Given the description of an element on the screen output the (x, y) to click on. 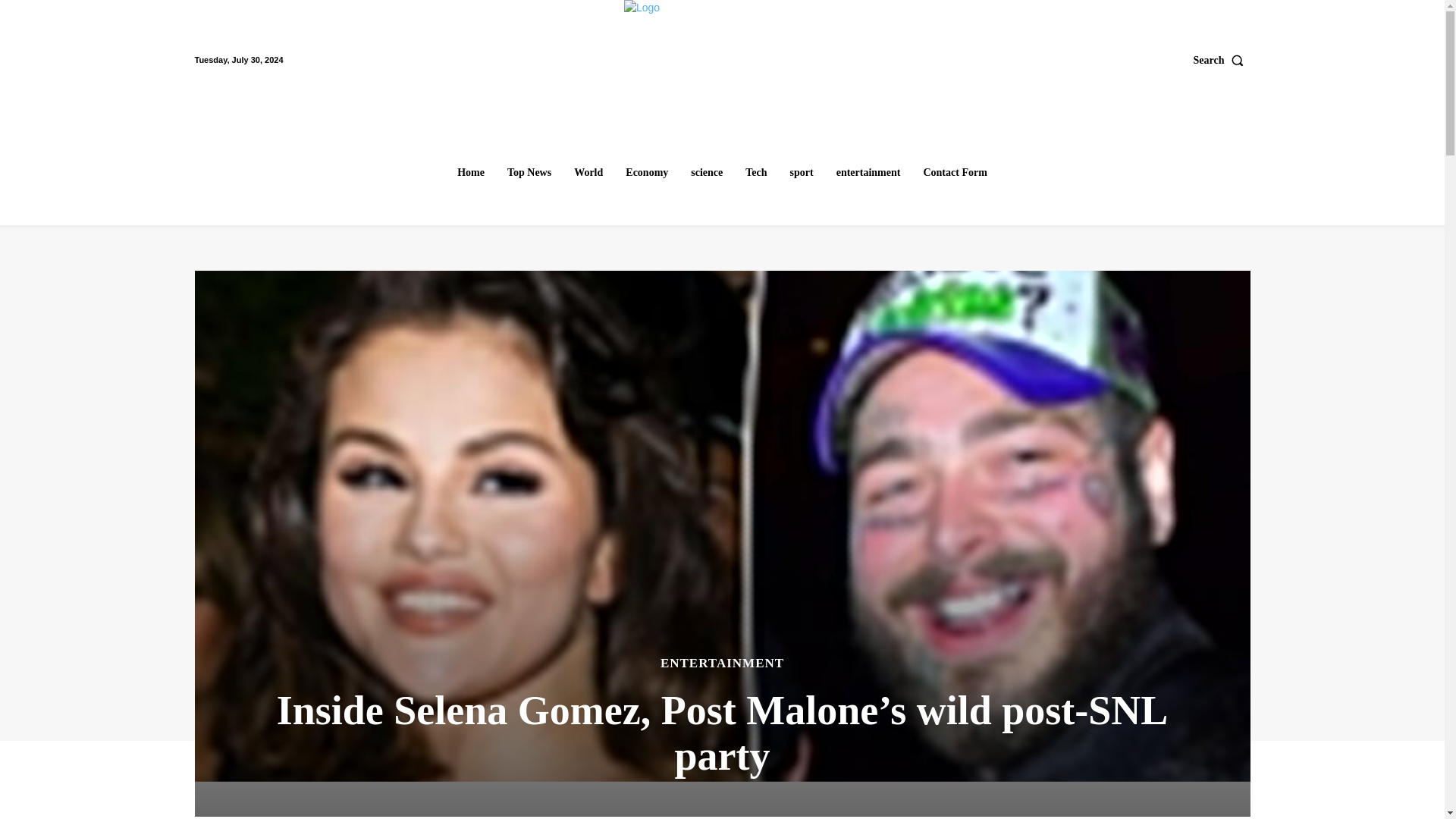
Contact Form (954, 173)
Home (470, 173)
sport (802, 173)
World (588, 173)
Tech (756, 173)
science (706, 173)
Top News (529, 173)
Economy (646, 173)
entertainment (868, 173)
Search (1221, 60)
